Given the description of an element on the screen output the (x, y) to click on. 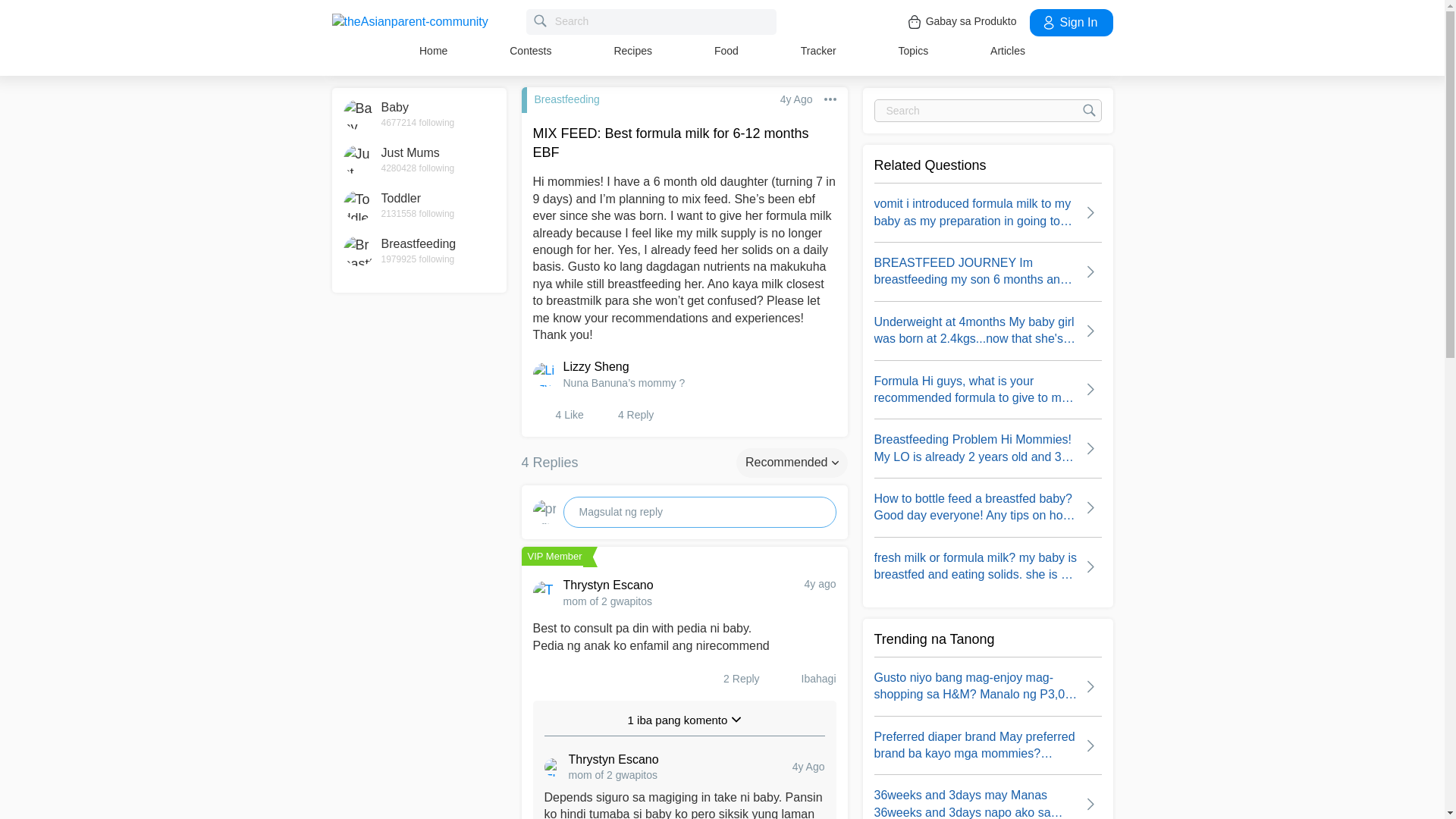
Recipes (632, 50)
query (650, 22)
Sign In (1071, 22)
Topics (418, 205)
Food (913, 50)
Home (418, 159)
Articles (726, 50)
